Given the description of an element on the screen output the (x, y) to click on. 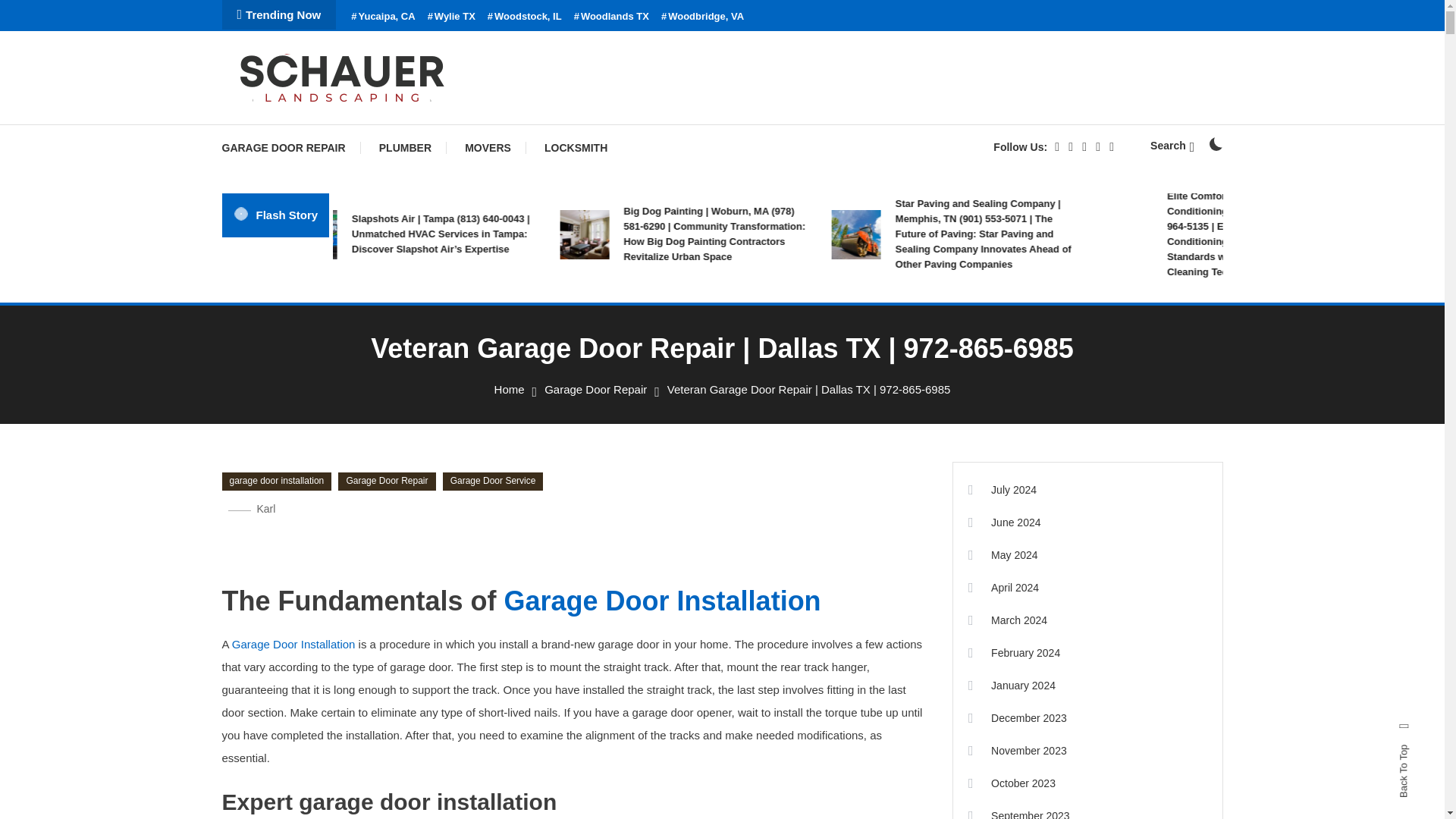
PLUMBER (405, 147)
Woodbridge, VA (702, 16)
Wylie TX (452, 16)
GARAGE DOOR REPAIR (290, 147)
Woodstock, IL (524, 16)
Yucaipa, CA (382, 16)
on (1215, 143)
Woodlands TX (611, 16)
MOVERS (487, 147)
LOCKSMITH (576, 147)
Search (1171, 145)
Home (509, 389)
Search (768, 434)
